Given the description of an element on the screen output the (x, y) to click on. 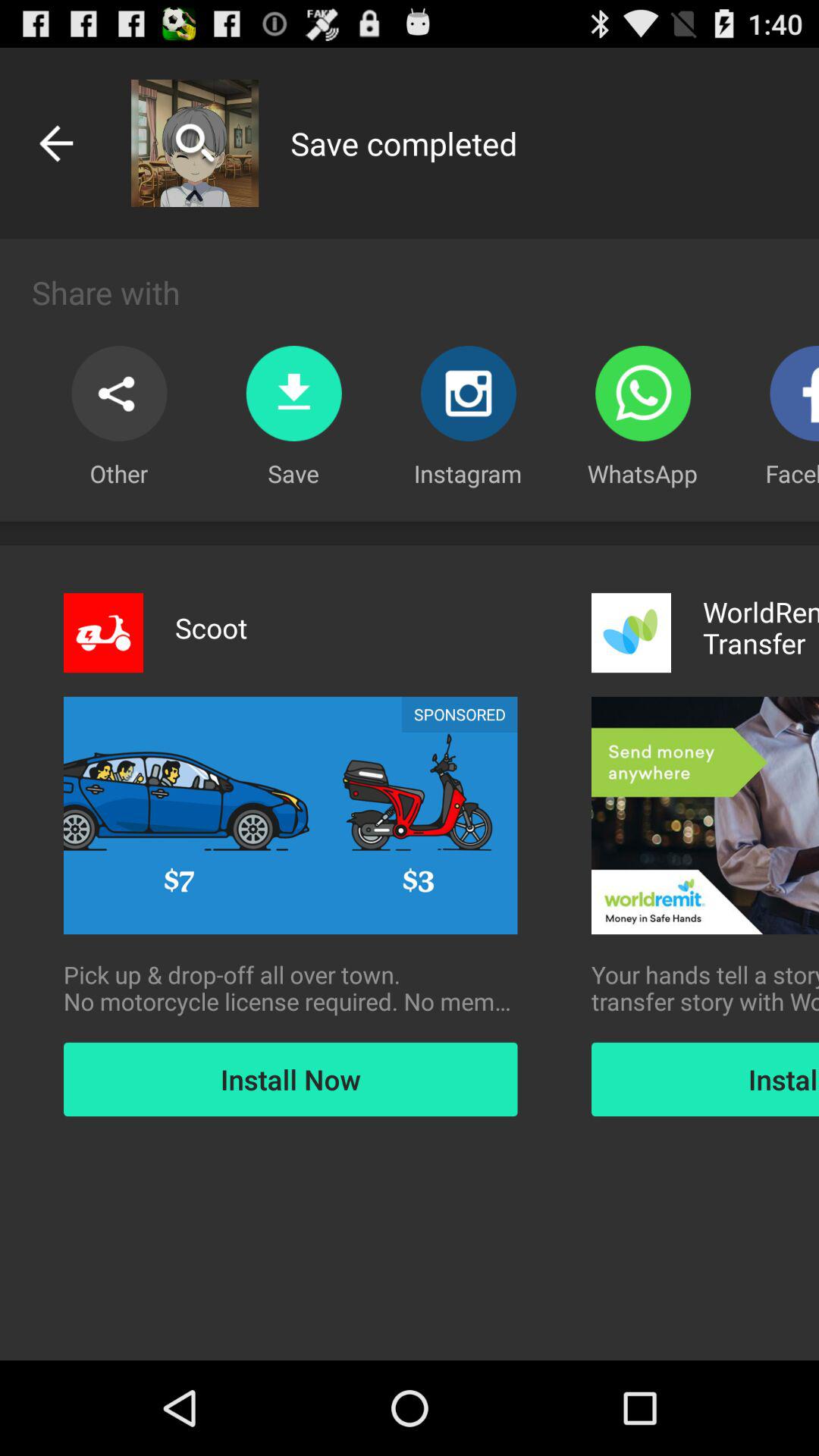
swipe until the pick up drop icon (290, 988)
